Given the description of an element on the screen output the (x, y) to click on. 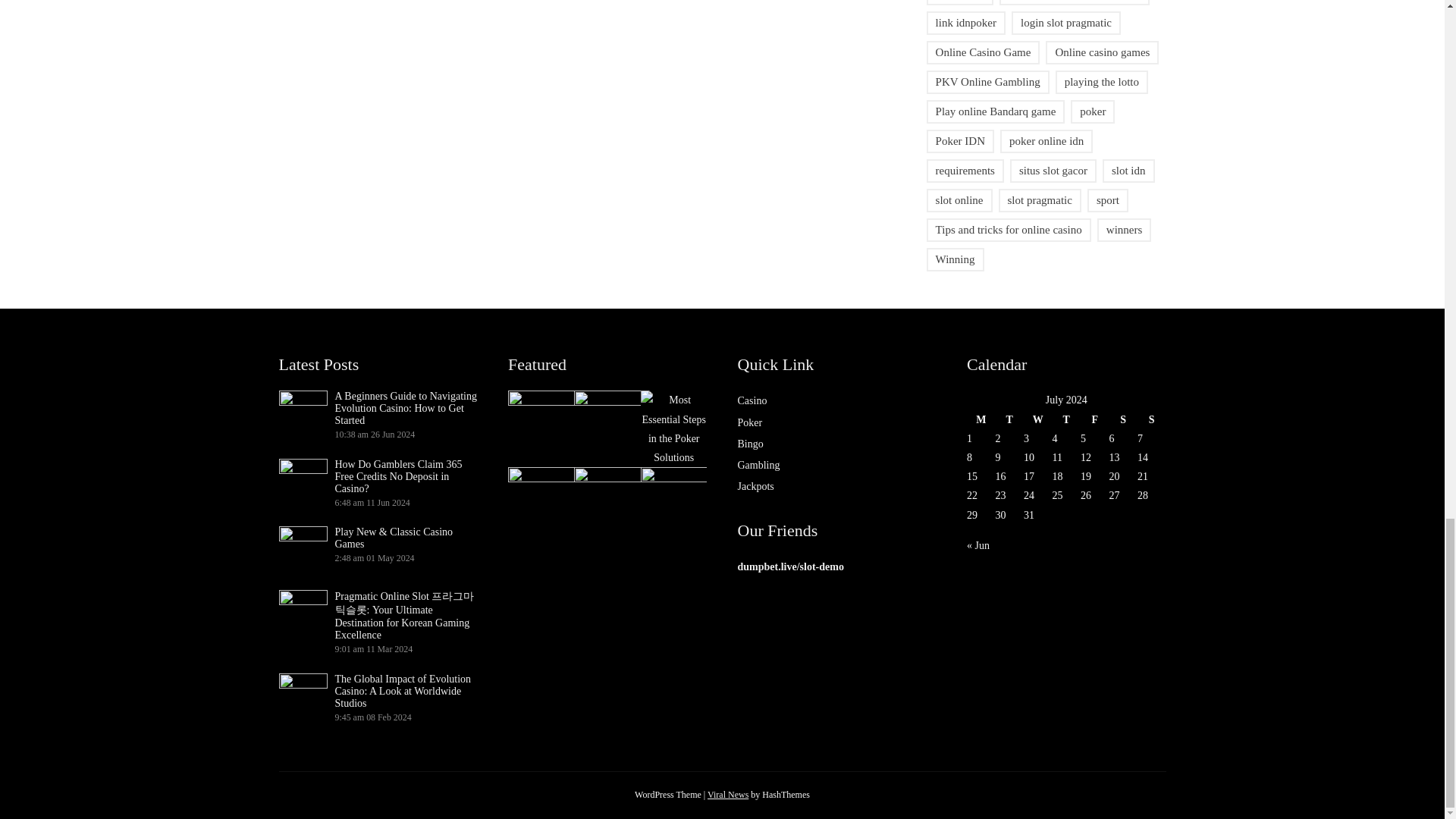
Saturday (1122, 419)
Sunday (1151, 419)
Tuesday (1008, 419)
Wednesday (1037, 419)
Monday (980, 419)
Download Viral News (727, 794)
Friday (1094, 419)
Thursday (1066, 419)
